Given the description of an element on the screen output the (x, y) to click on. 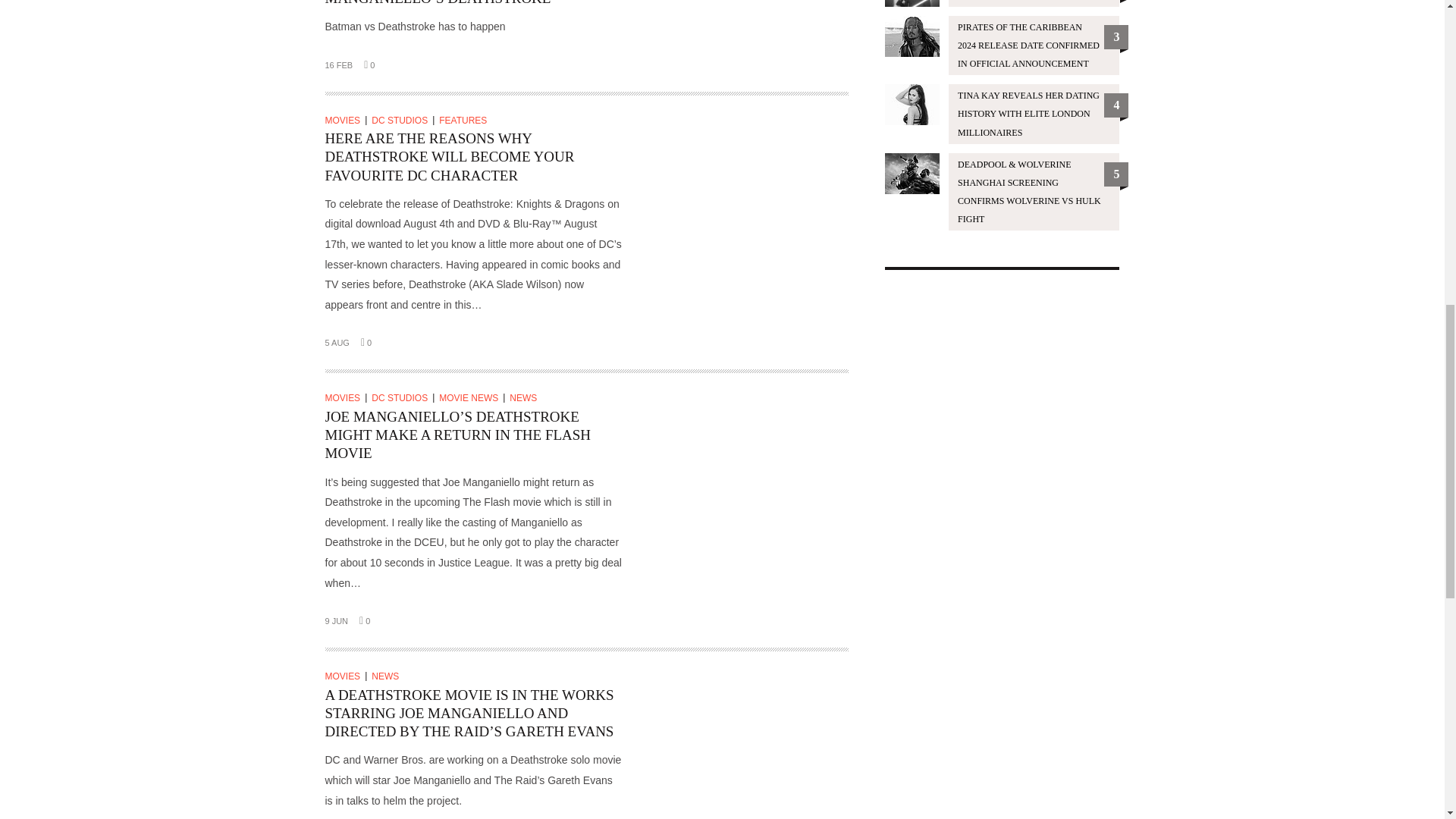
View all posts in MOVIES (345, 120)
